Given the description of an element on the screen output the (x, y) to click on. 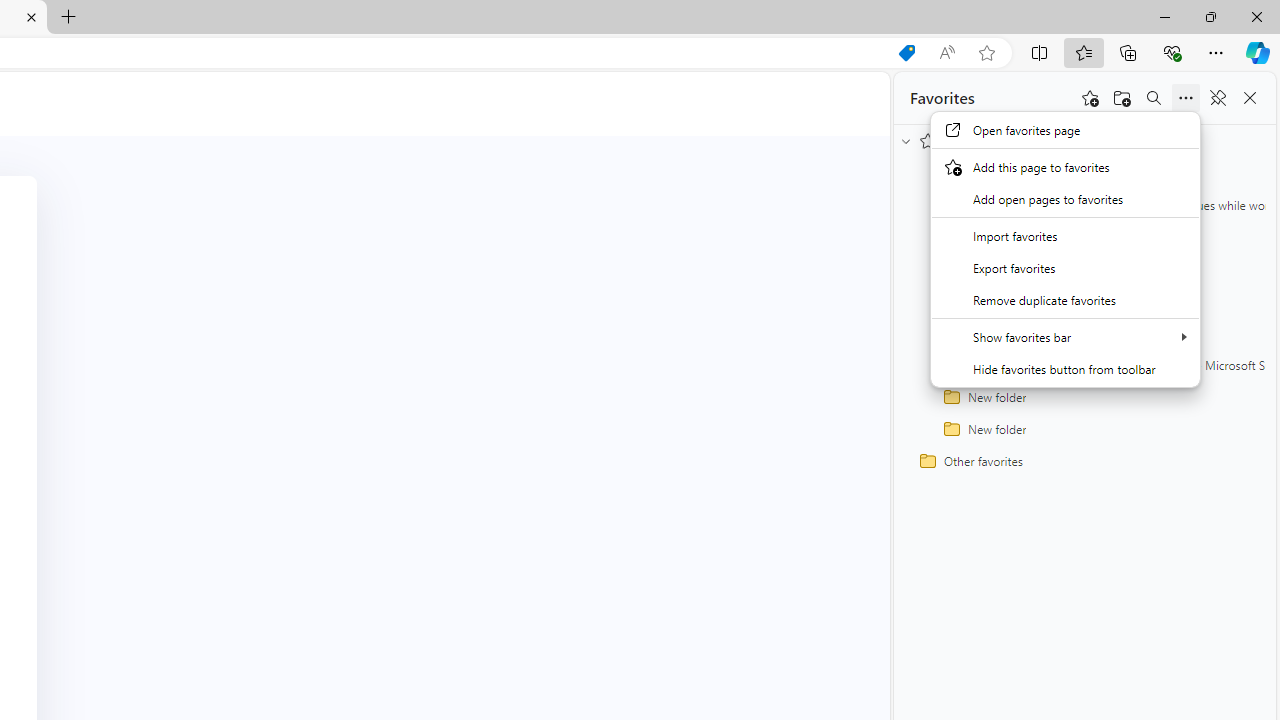
Shopping in Microsoft Edge (906, 53)
